Given the description of an element on the screen output the (x, y) to click on. 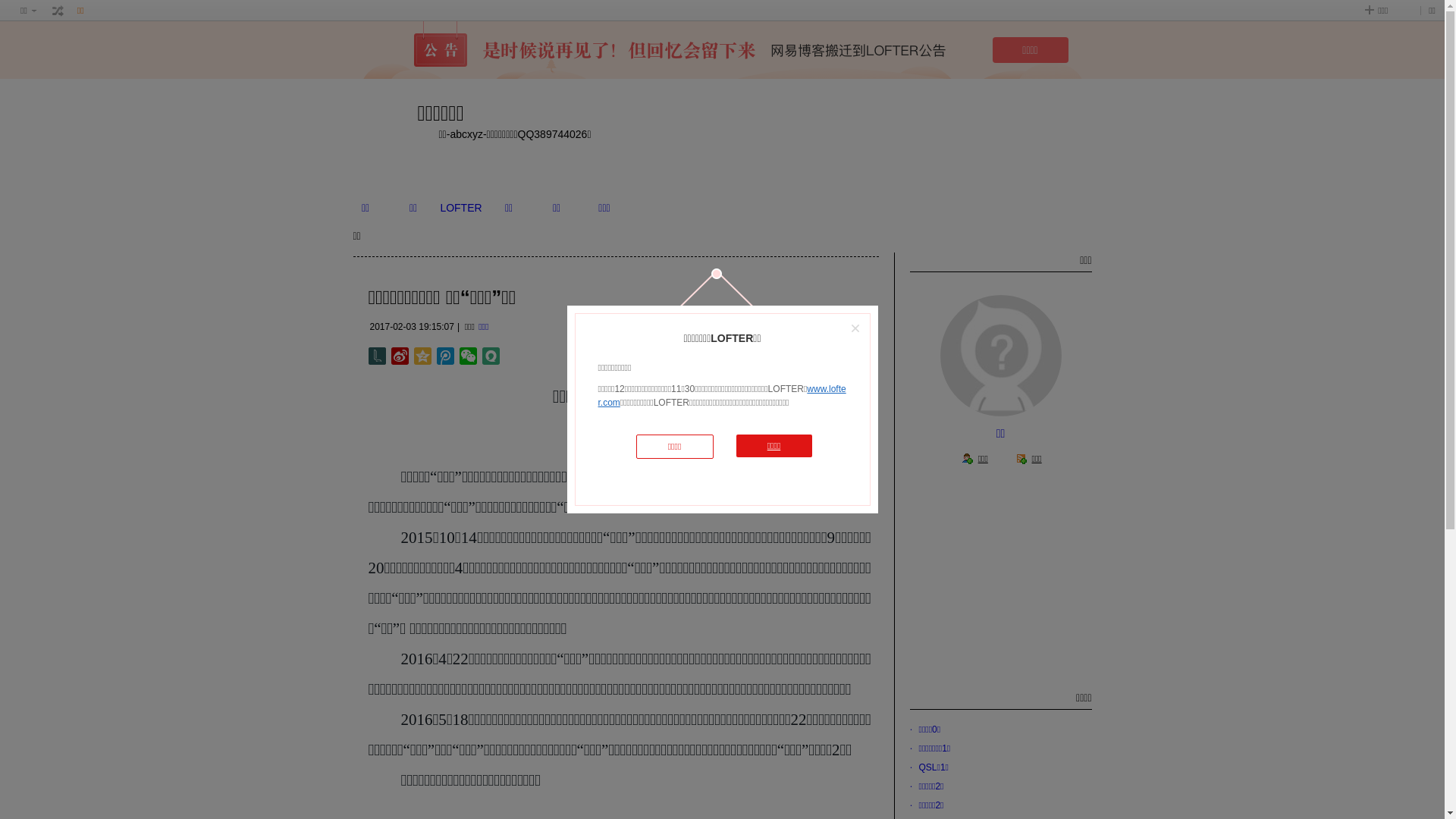
  Element type: text (58, 10)
www.lofter.com Element type: text (721, 395)
LOFTER Element type: text (460, 207)
